Given the description of an element on the screen output the (x, y) to click on. 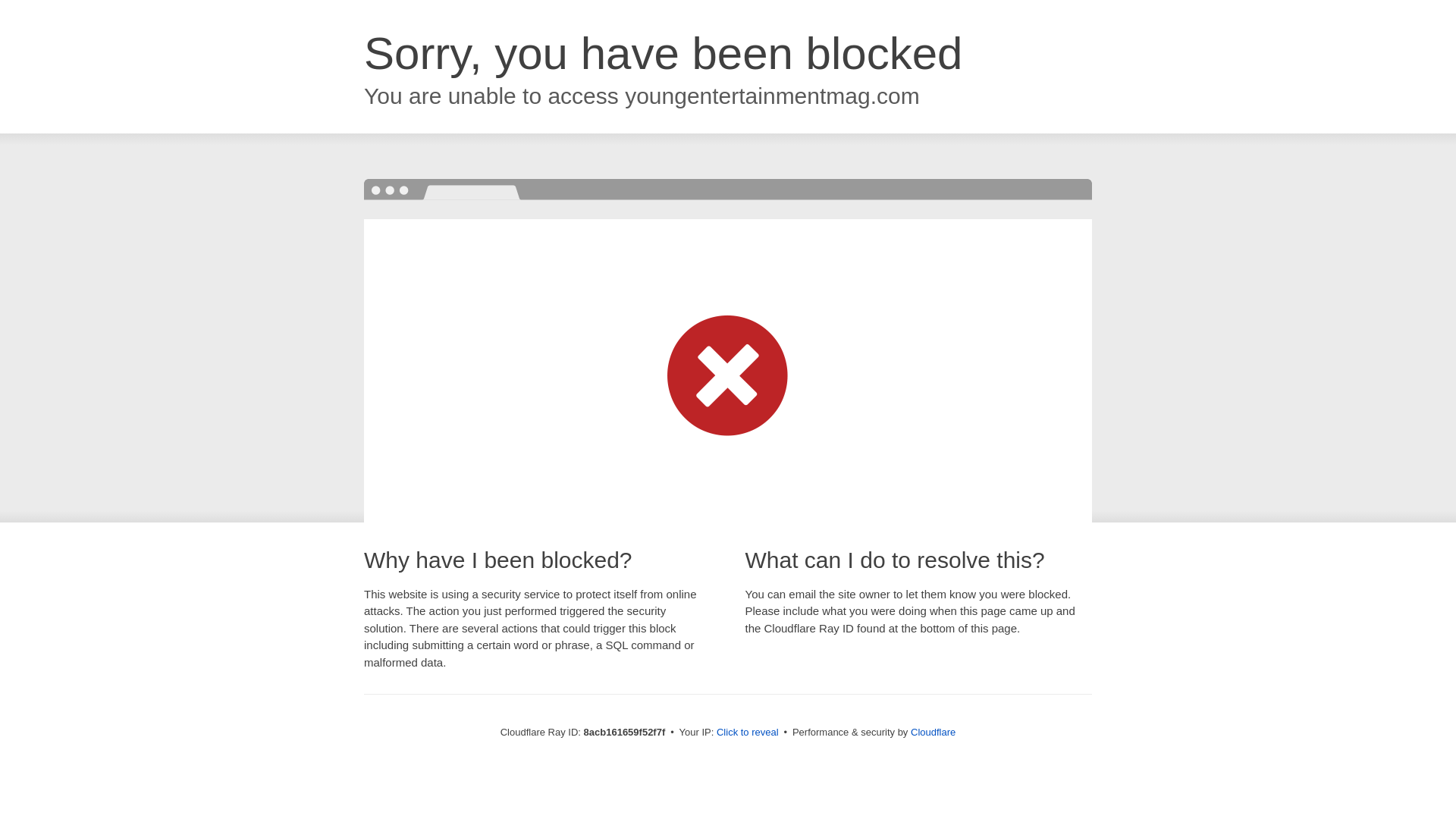
Cloudflare (933, 731)
Click to reveal (747, 732)
